Given the description of an element on the screen output the (x, y) to click on. 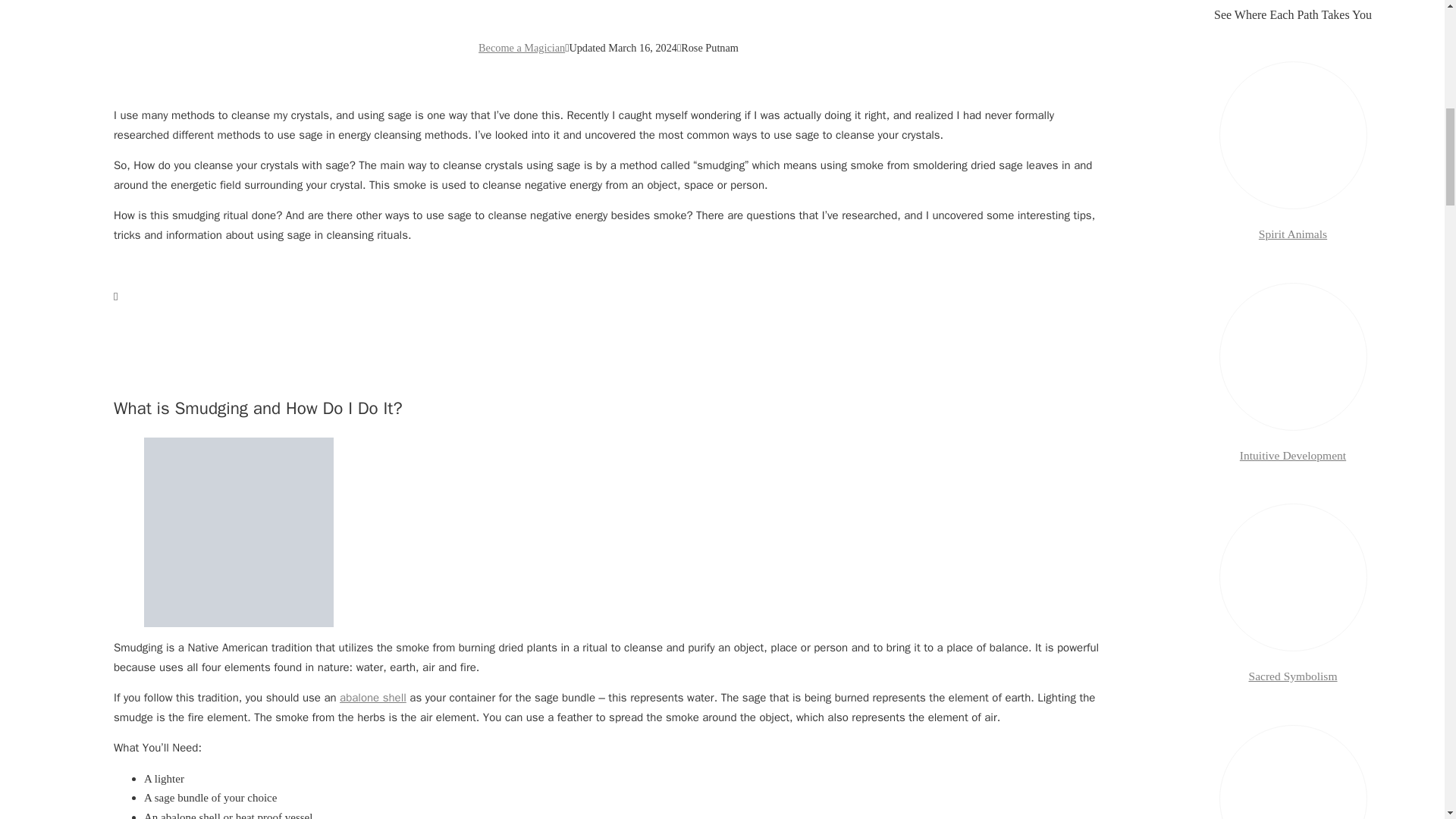
Intuitive Development (1292, 455)
Sacred Symbolism (1291, 676)
abalone shell (372, 697)
Become a Magician (521, 47)
Spirit Animals (1292, 234)
